Given the description of an element on the screen output the (x, y) to click on. 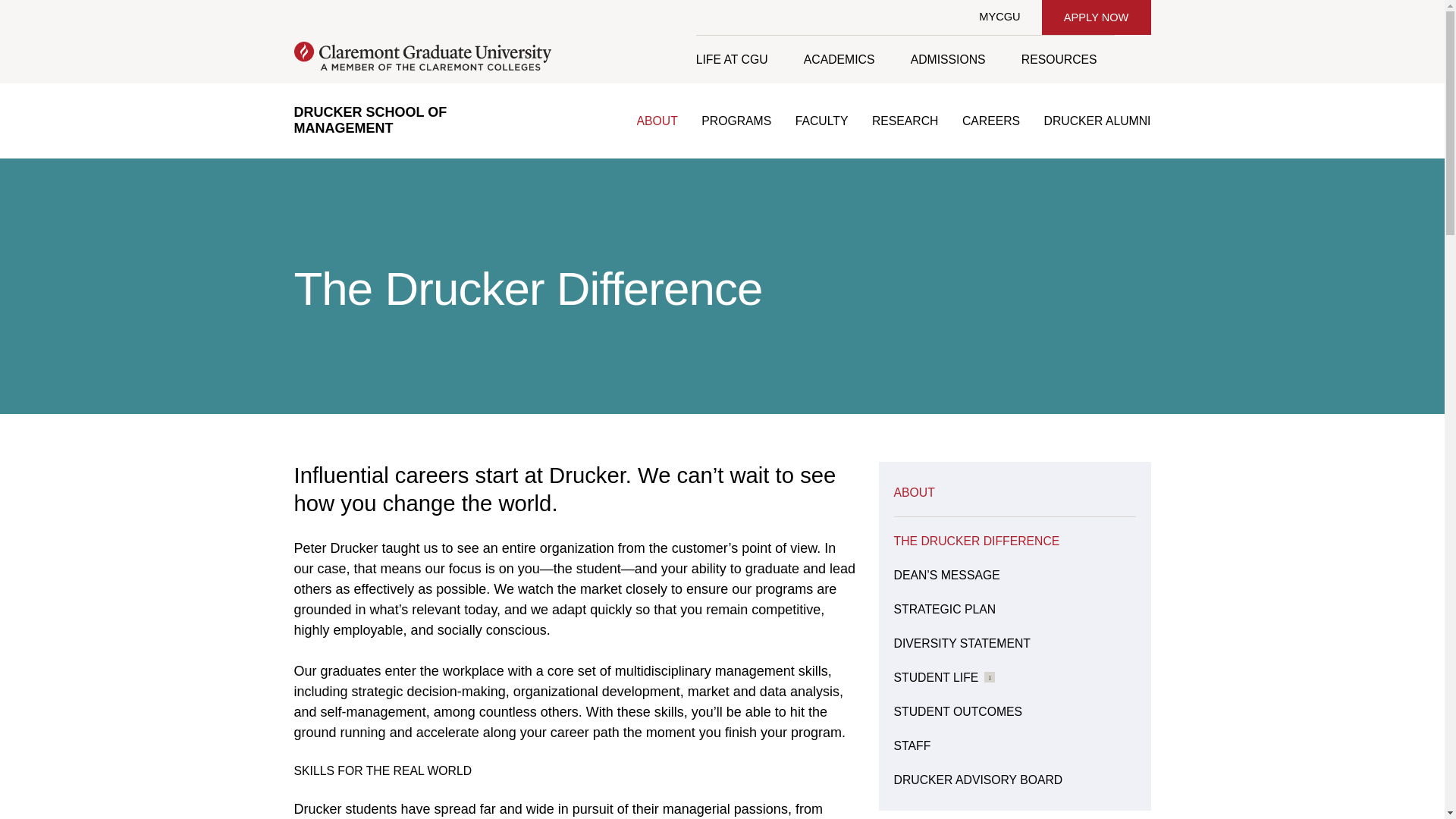
LIFE AT CGU (740, 59)
ACADEMICS (839, 59)
open search field (1132, 58)
MYCGU (1000, 16)
APPLY NOW (1096, 17)
ADMISSIONS (947, 59)
